Given the description of an element on the screen output the (x, y) to click on. 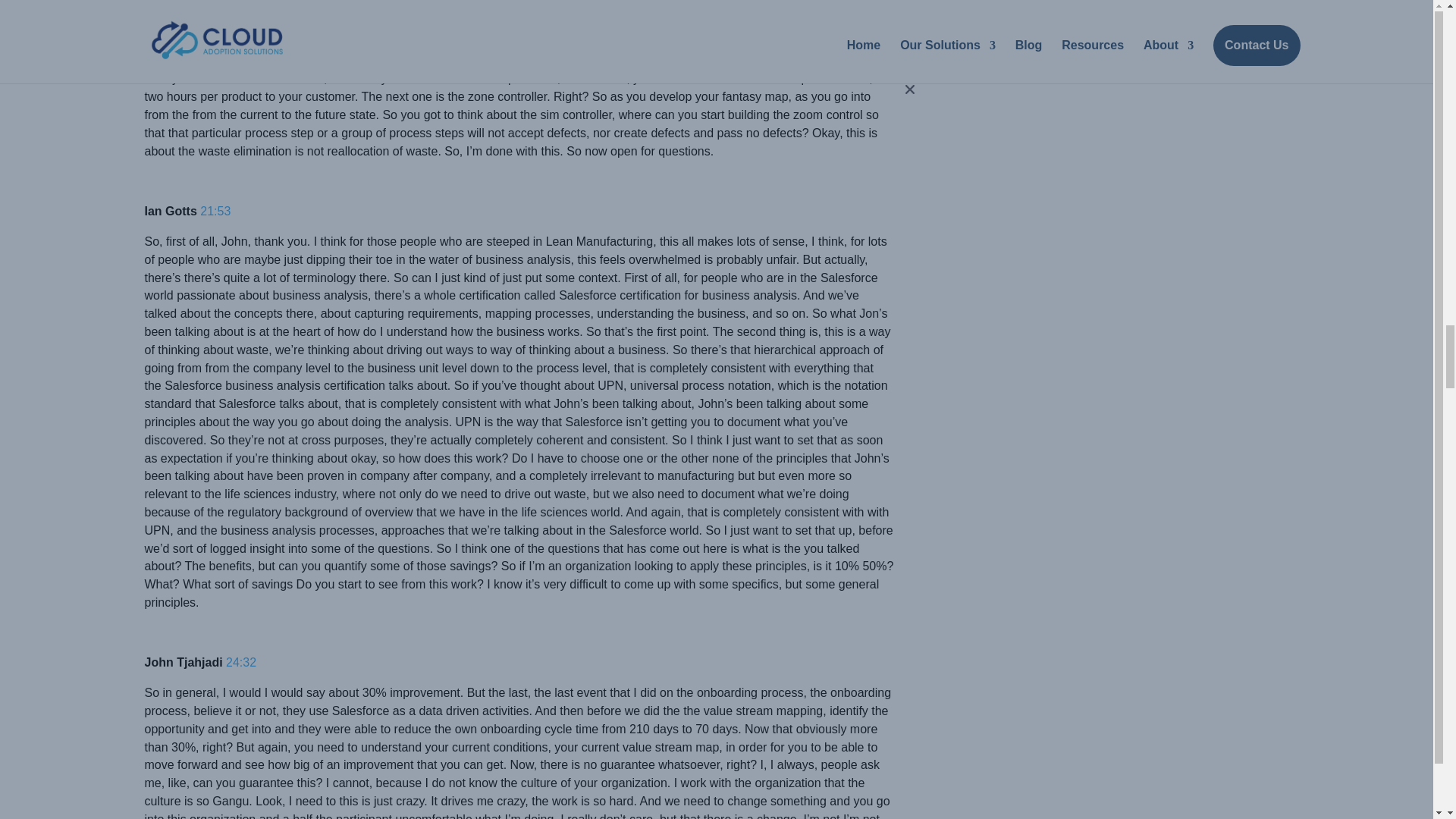
24:32 (240, 662)
21:53 (215, 210)
